Given the description of an element on the screen output the (x, y) to click on. 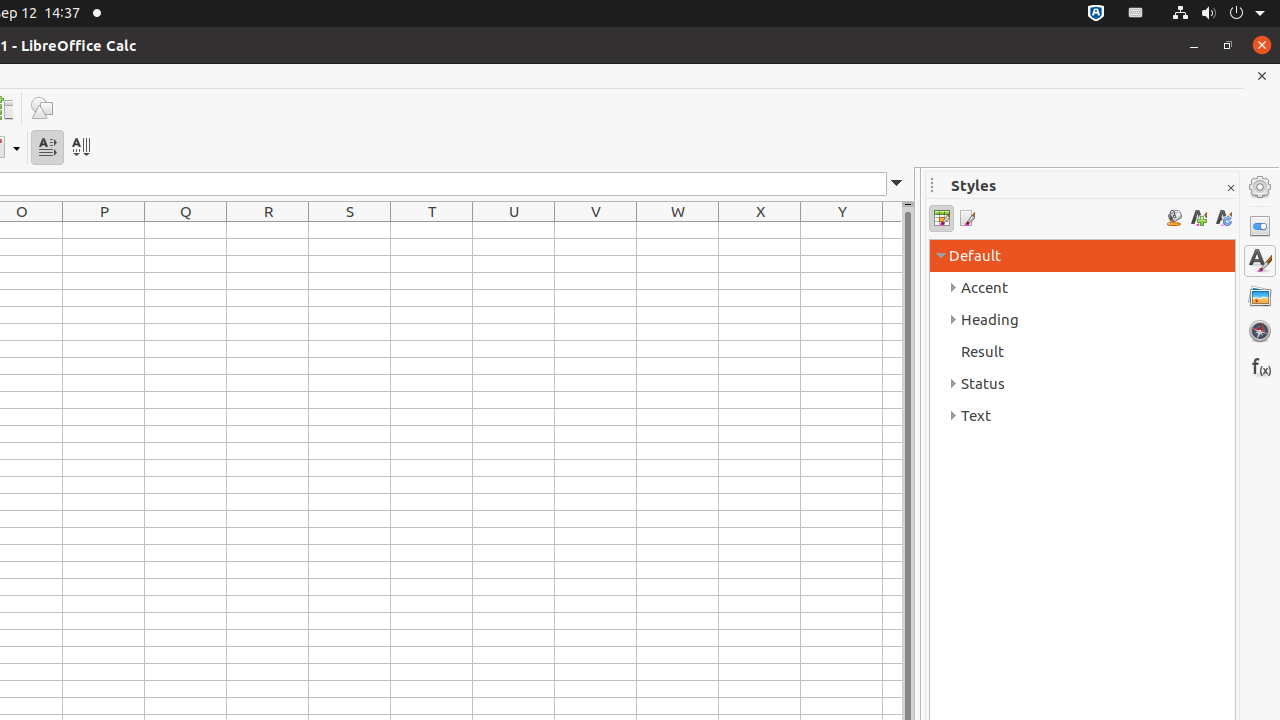
:1.21/StatusNotifierItem Element type: menu (1136, 13)
New Style from Selection Element type: push-button (1198, 218)
:1.72/StatusNotifierItem Element type: menu (1096, 13)
U1 Element type: table-cell (514, 230)
Navigator Element type: radio-button (1260, 331)
